Given the description of an element on the screen output the (x, y) to click on. 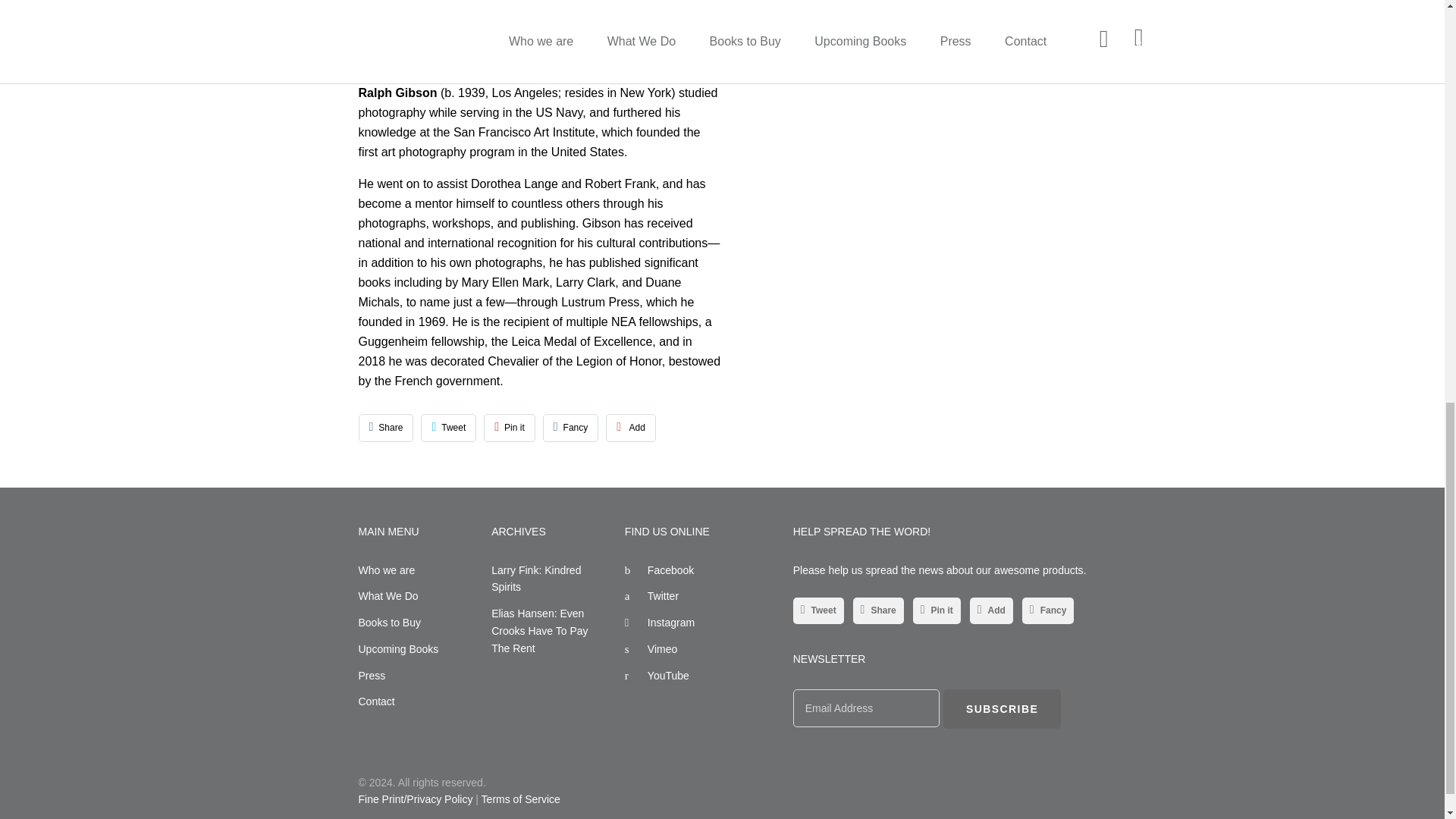
Upcoming Books (398, 648)
What We Do (387, 595)
Books to Buy (389, 622)
Pin it (509, 428)
Subscribe (1002, 708)
Press (371, 674)
Tweet (448, 428)
Fancy (570, 428)
Add (630, 428)
Share (385, 428)
Who we are (386, 570)
